Given the description of an element on the screen output the (x, y) to click on. 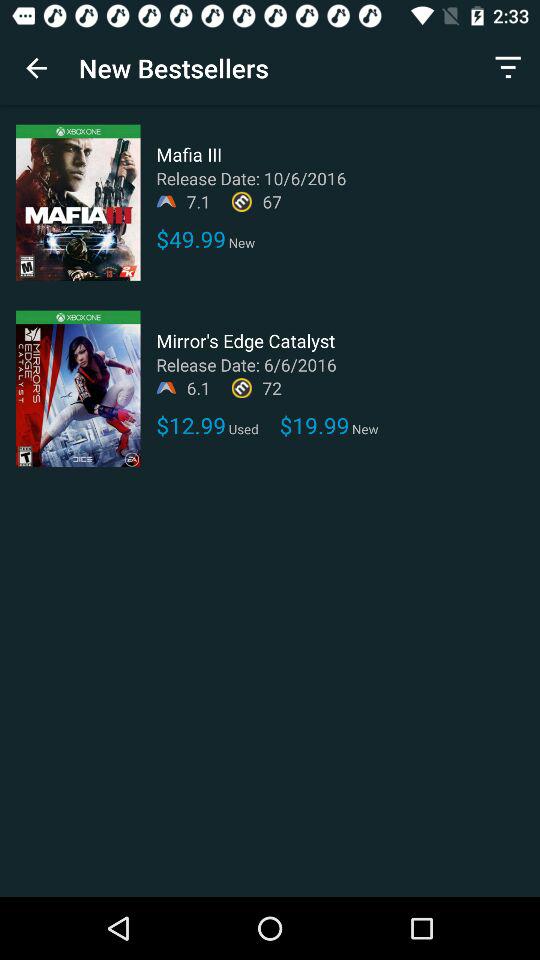
turn on the item to the right of the new bestsellers (508, 67)
